Given the description of an element on the screen output the (x, y) to click on. 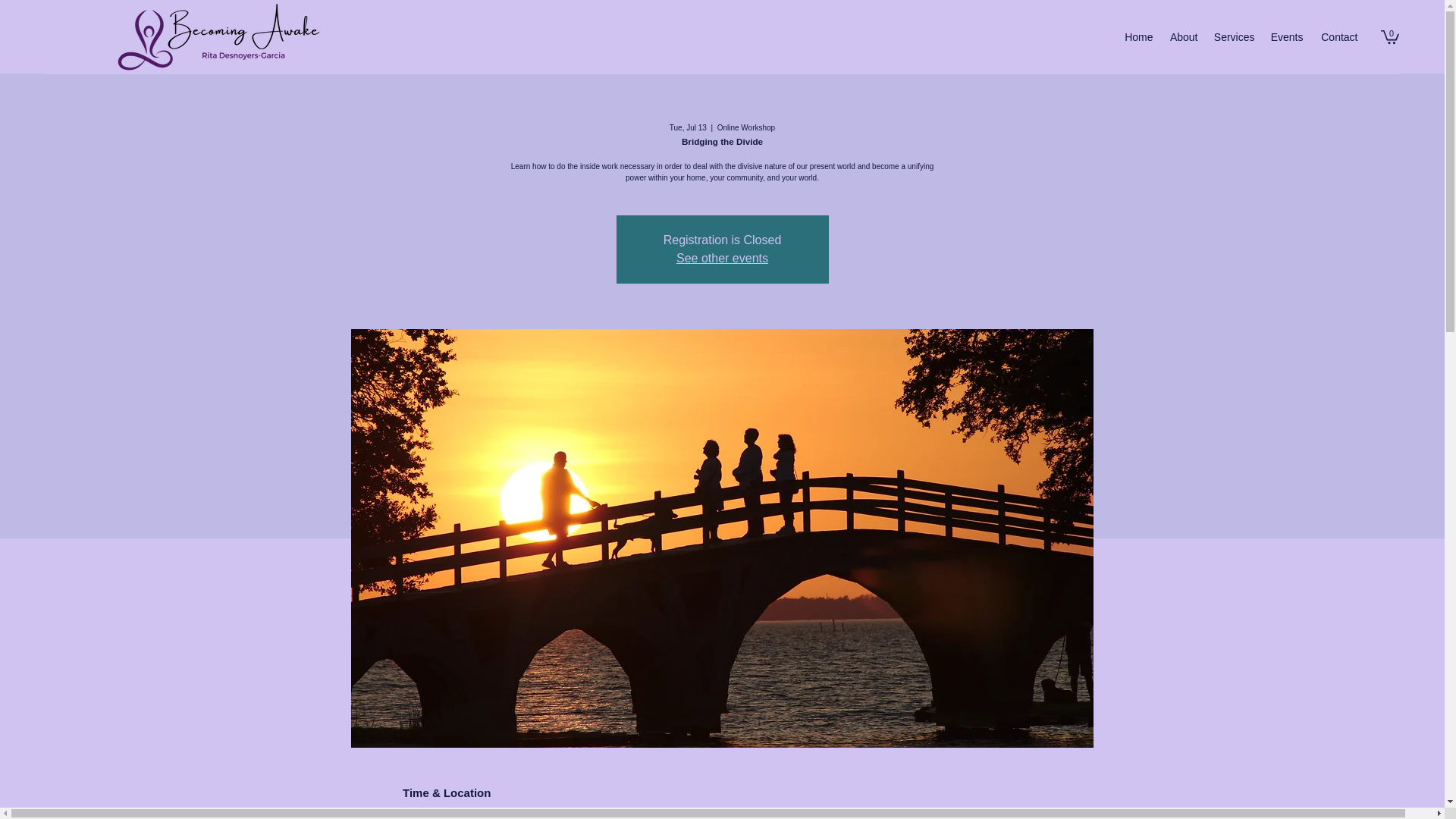
Home (1138, 37)
0 (1389, 36)
0 (1389, 36)
Contact (1337, 37)
Services (1233, 37)
Events (1286, 37)
See other events (722, 257)
About (1182, 37)
